Given the description of an element on the screen output the (x, y) to click on. 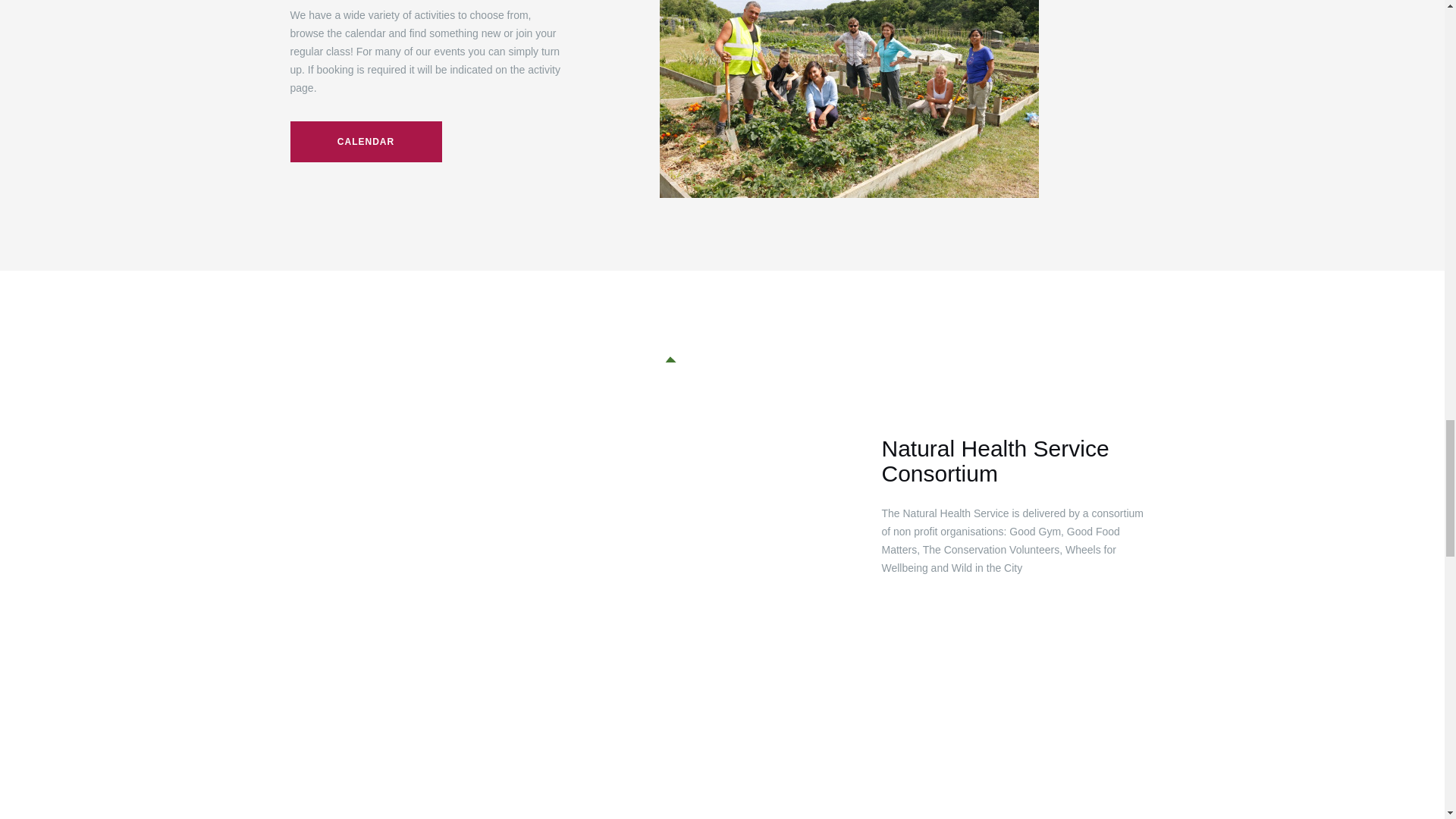
CALENDAR (365, 141)
